Given the description of an element on the screen output the (x, y) to click on. 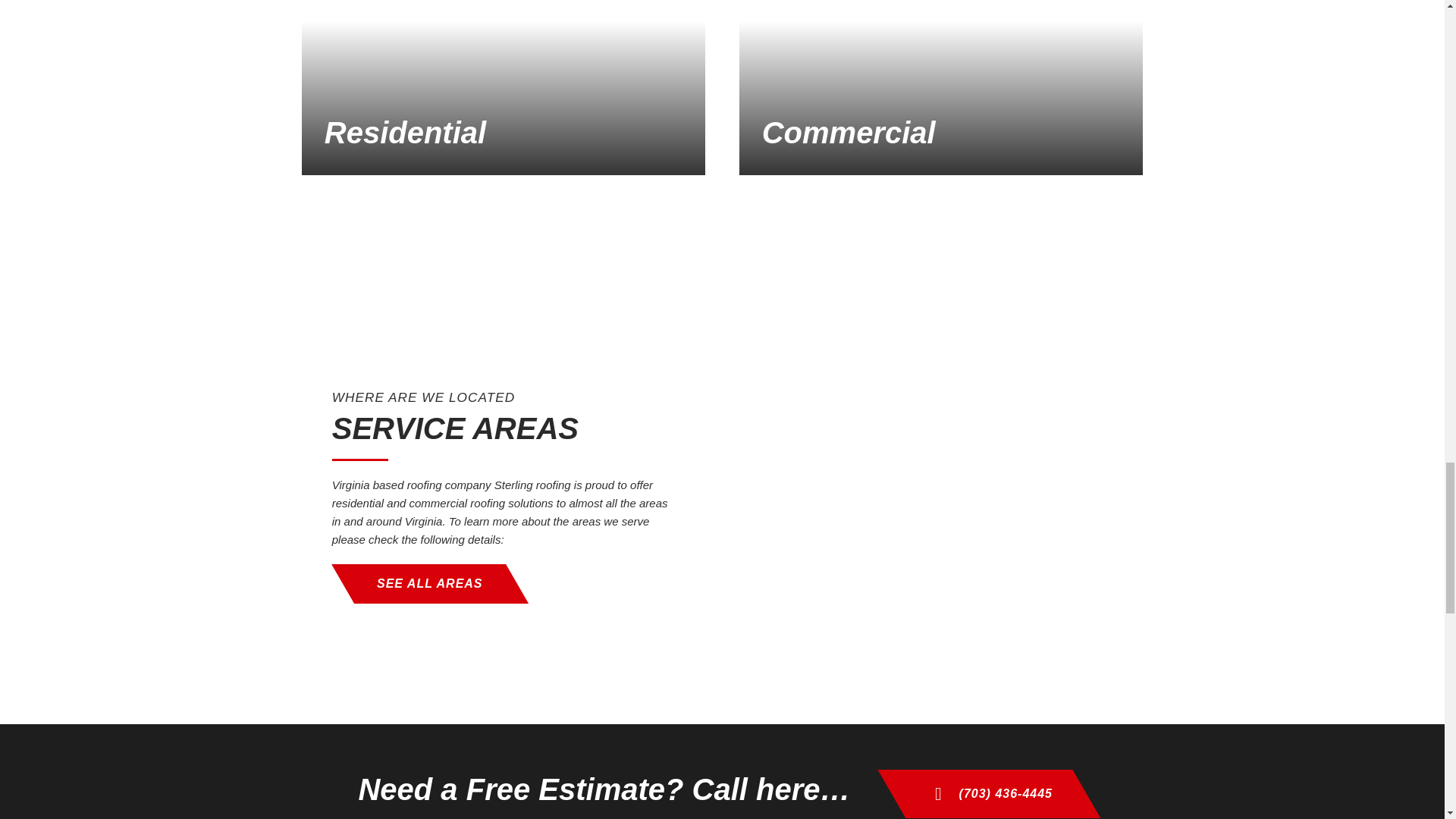
SEE ALL AREAS (418, 583)
